Given the description of an element on the screen output the (x, y) to click on. 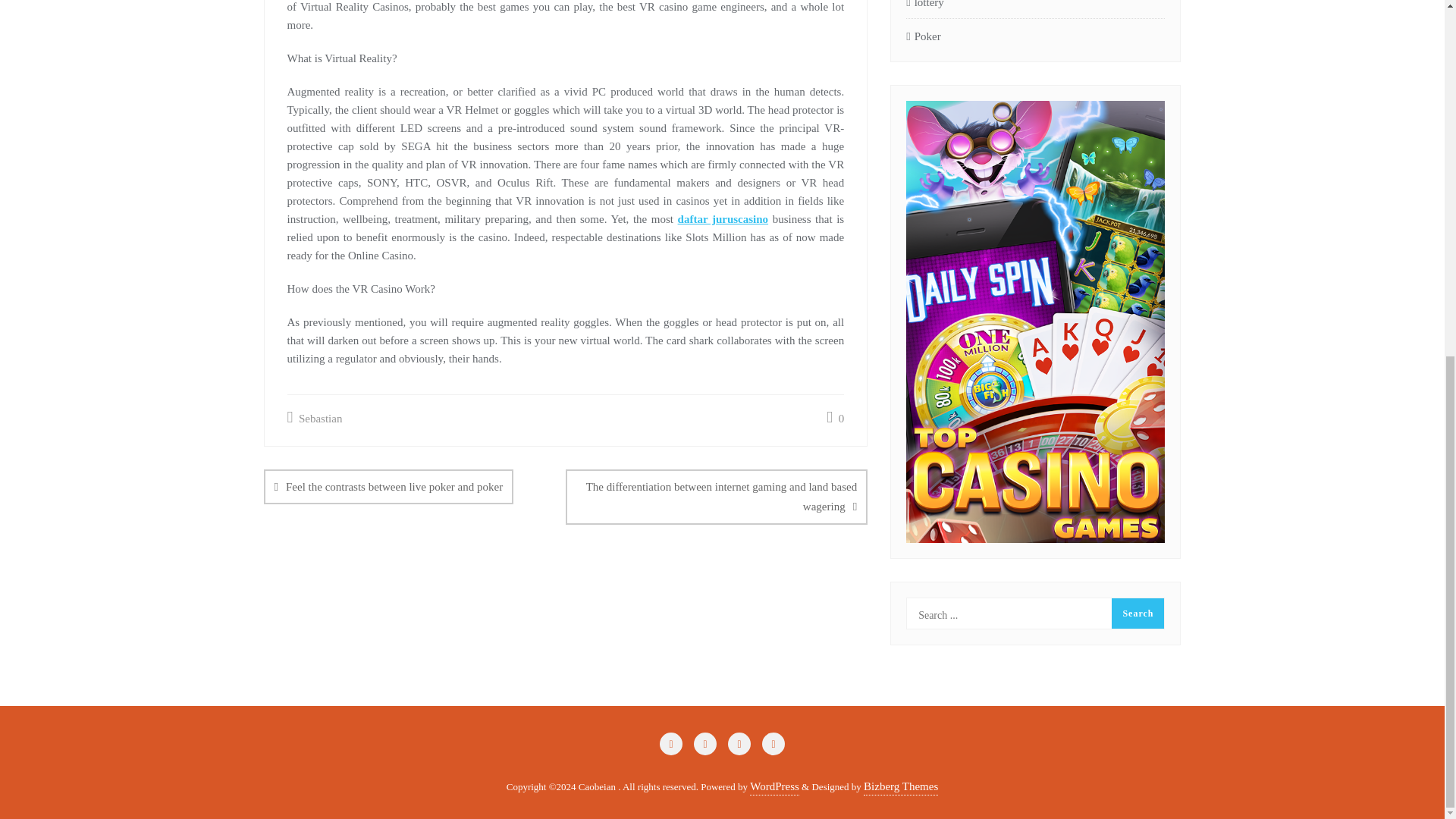
Search (1137, 613)
Feel the contrasts between live poker and poker (388, 486)
Poker (922, 35)
Search (1137, 613)
daftar juruscasino (723, 218)
Search (1137, 613)
Sebastian (314, 418)
lottery (924, 6)
Bizberg Themes (900, 786)
WordPress (774, 786)
